Given the description of an element on the screen output the (x, y) to click on. 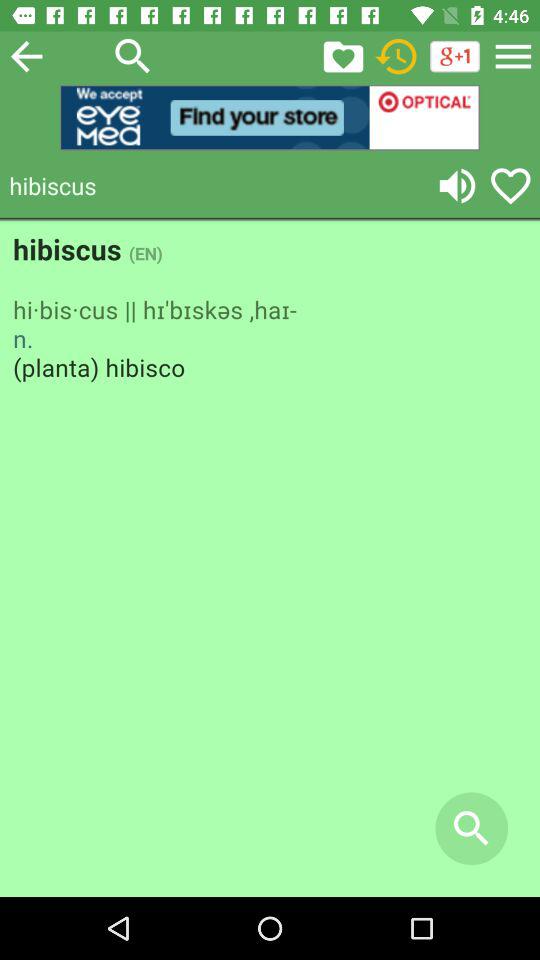
volume switch (457, 185)
